Given the description of an element on the screen output the (x, y) to click on. 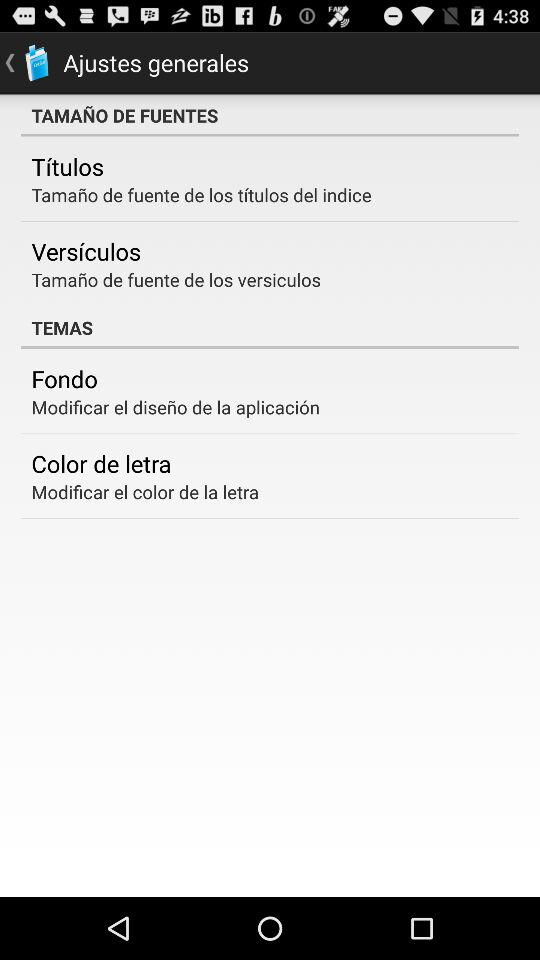
launch the fondo app (64, 378)
